Given the description of an element on the screen output the (x, y) to click on. 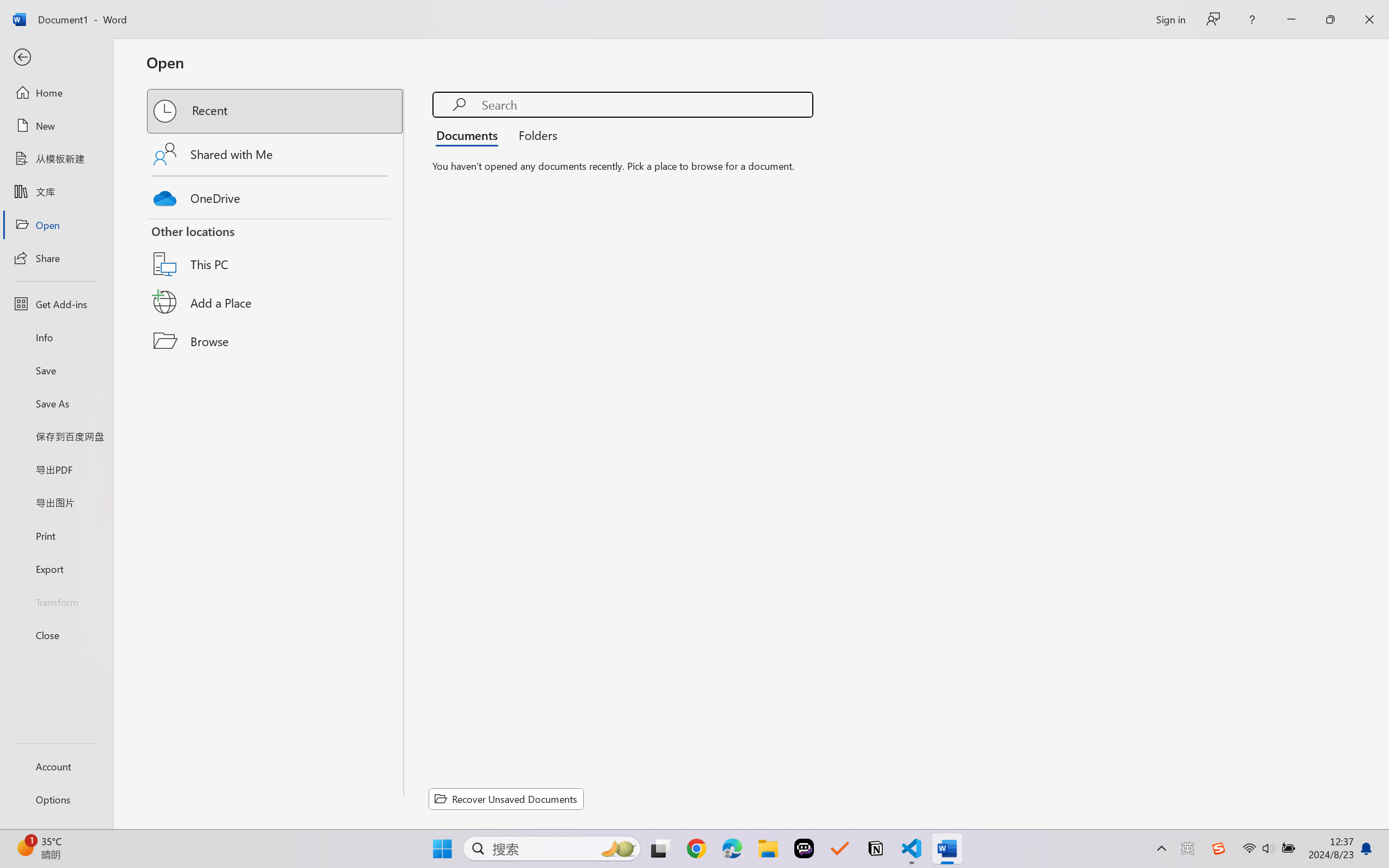
Save As (56, 403)
New (56, 125)
This PC (275, 249)
Documents (469, 134)
